Given the description of an element on the screen output the (x, y) to click on. 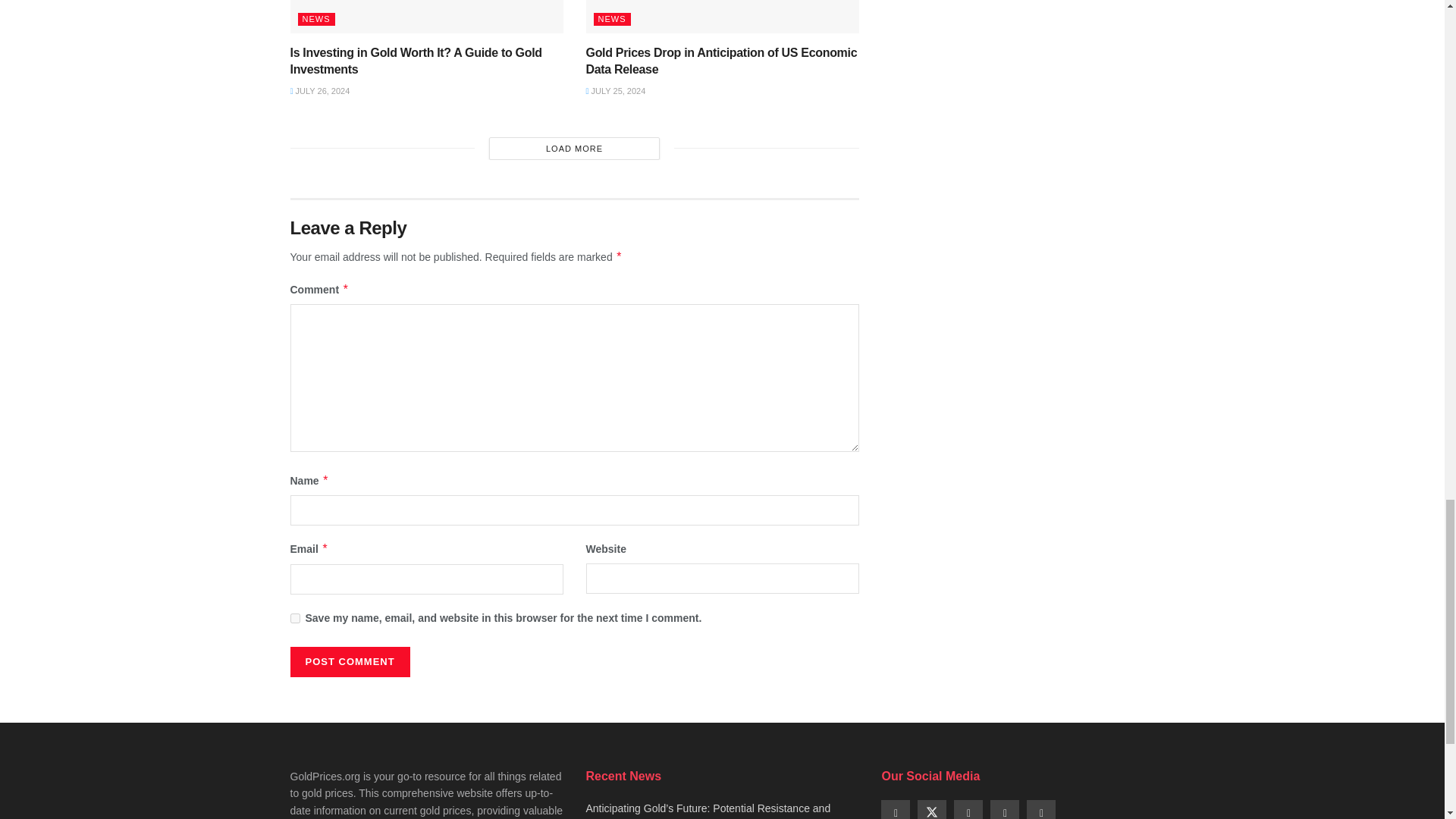
yes (294, 617)
Post Comment (349, 662)
